Given the description of an element on the screen output the (x, y) to click on. 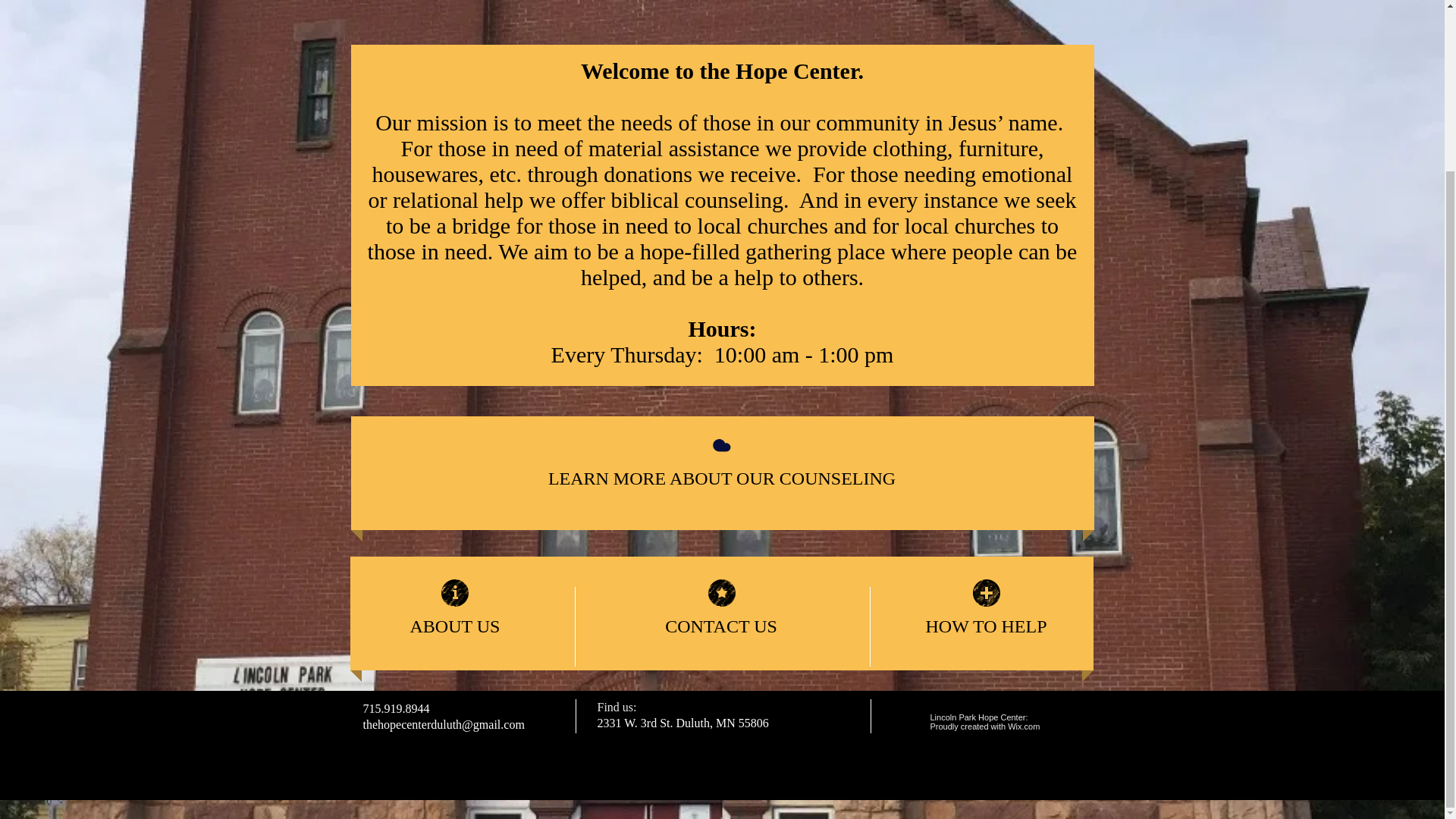
Wix.com (1023, 726)
LEARN MORE ABOUT OUR COUNSELING (721, 478)
